Given the description of an element on the screen output the (x, y) to click on. 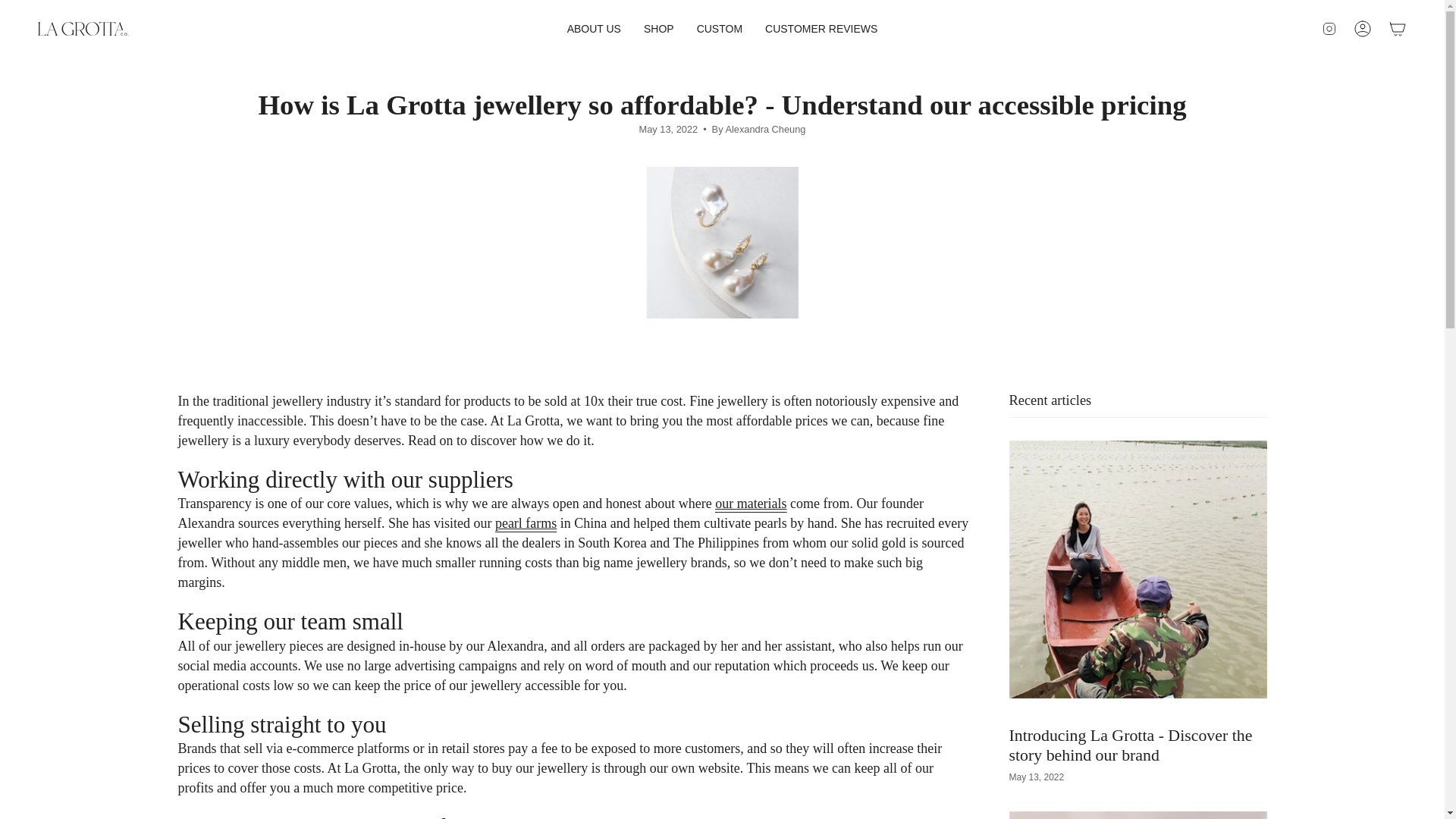
Cart (1397, 28)
Cart (1397, 28)
ABOUT US (593, 28)
Instagram (1329, 28)
Account (1362, 28)
SHOP (658, 28)
CUSTOM (719, 28)
CUSTOMER REVIEWS (821, 28)
My Account (1362, 28)
LA GROTTA COLLECTIVE on Instagram (1329, 28)
